Given the description of an element on the screen output the (x, y) to click on. 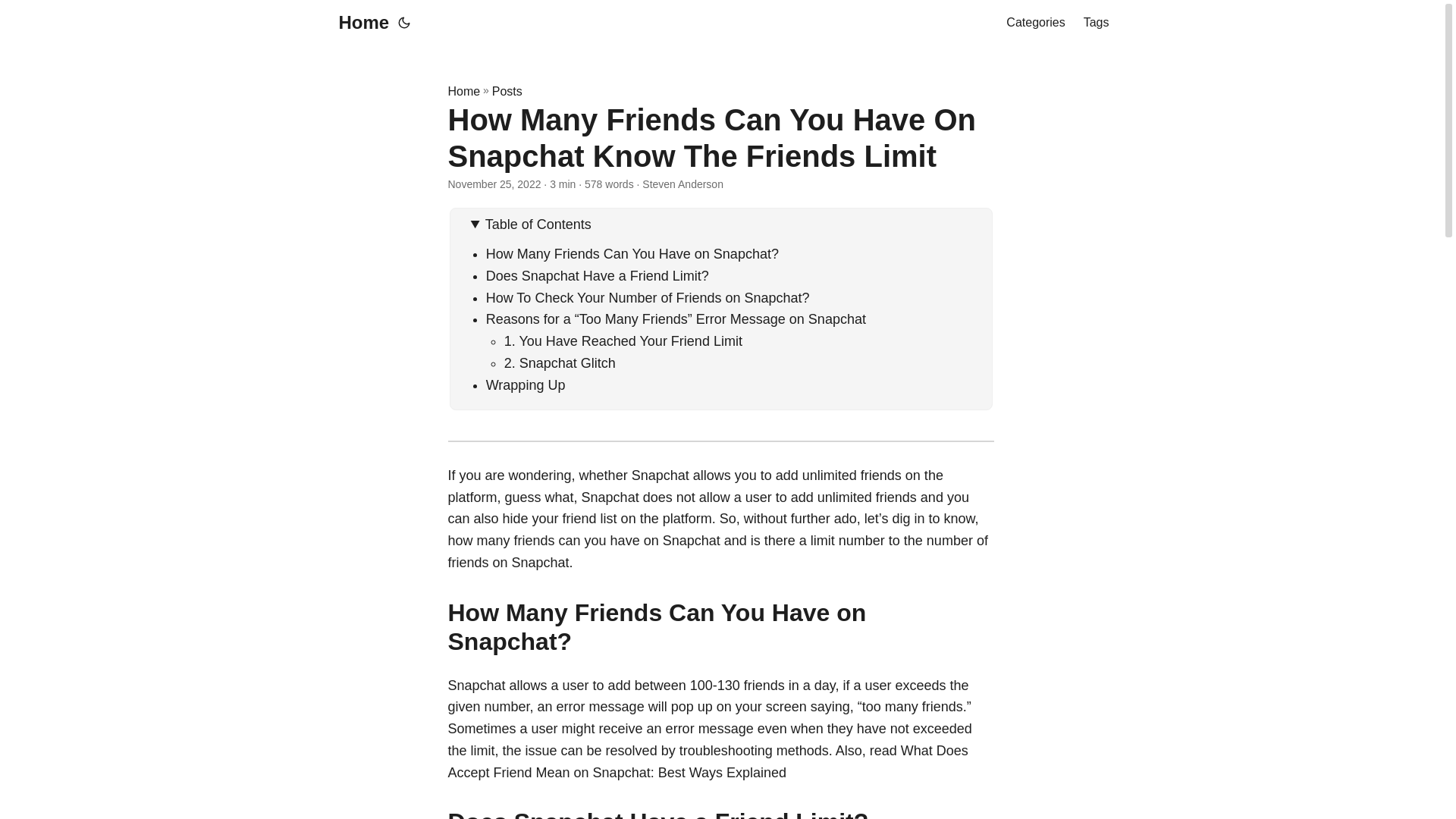
Home (359, 22)
Wrapping Up (526, 385)
Does Snapchat Have a Friend Limit? (597, 275)
How Many Friends Can You Have on Snapchat? (632, 253)
Categories (1035, 22)
Home (463, 91)
Posts (507, 91)
1. You Have Reached Your Friend Limit (622, 340)
Categories (1035, 22)
2. Snapchat Glitch (559, 363)
How To Check Your Number of Friends on Snapchat? (647, 297)
